Given the description of an element on the screen output the (x, y) to click on. 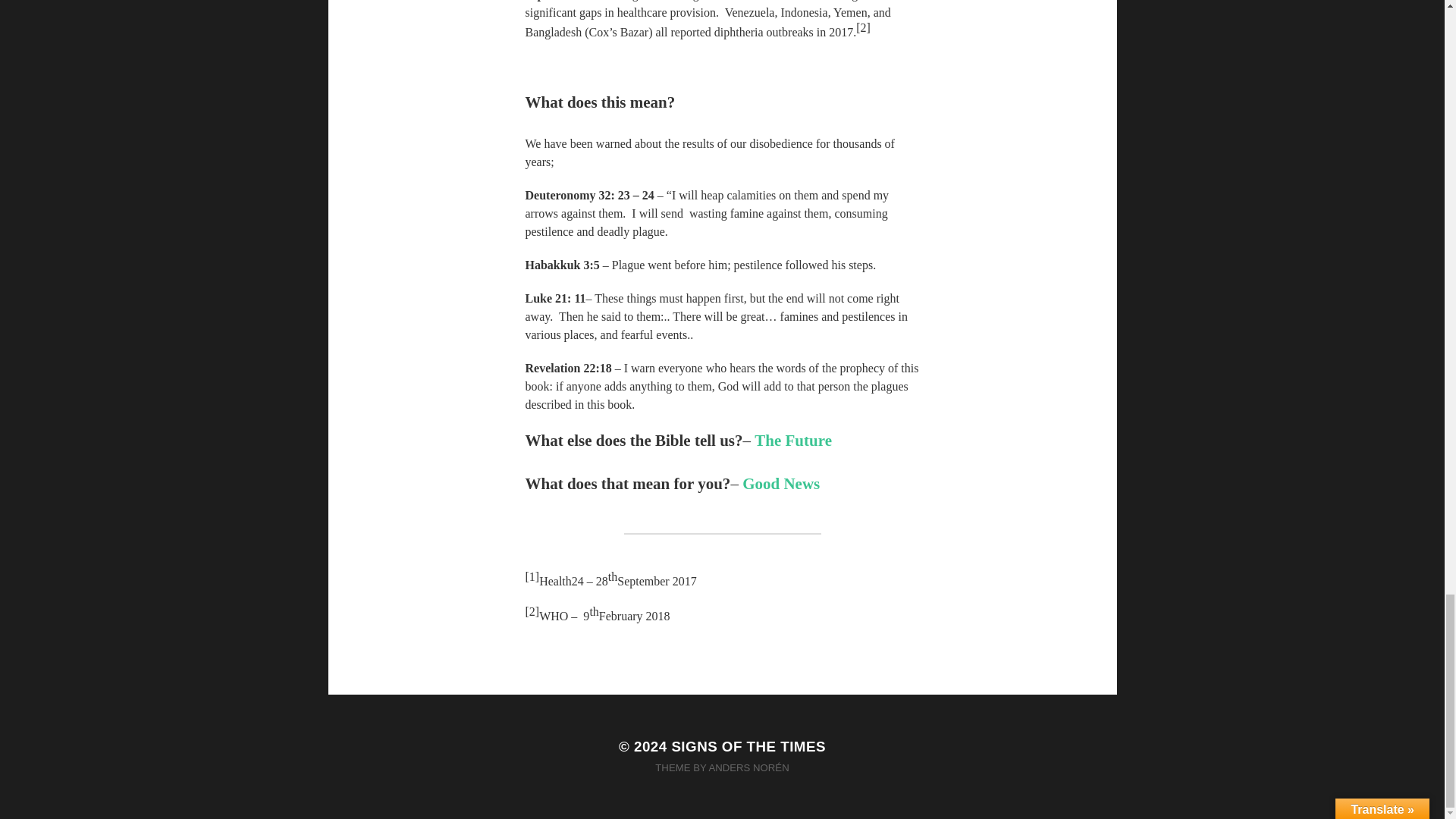
SIGNS OF THE TIMES (748, 746)
The Future (792, 440)
Good News (780, 484)
